Given the description of an element on the screen output the (x, y) to click on. 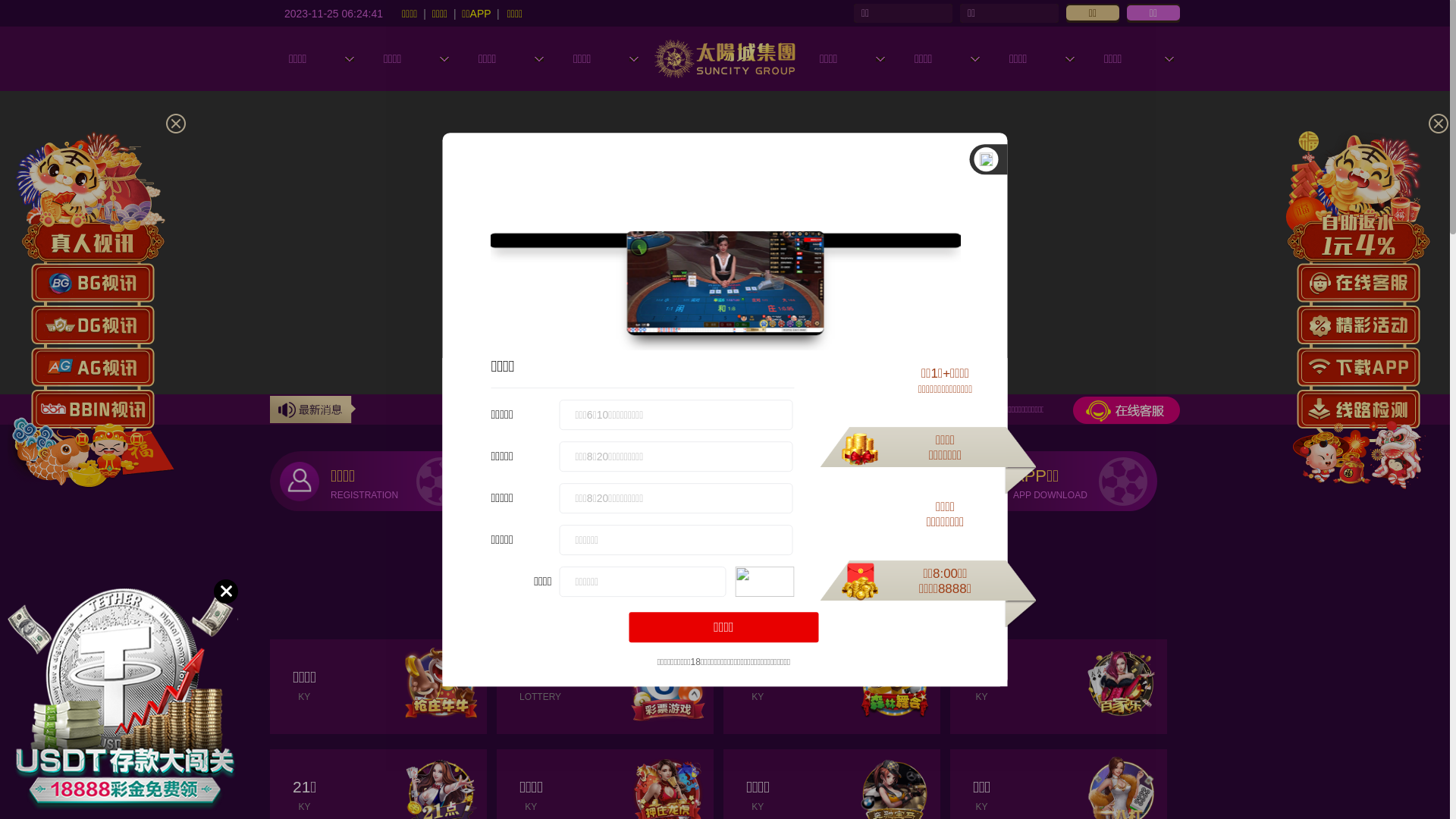
2023-11-25 06:24:39 Element type: text (333, 12)
